Given the description of an element on the screen output the (x, y) to click on. 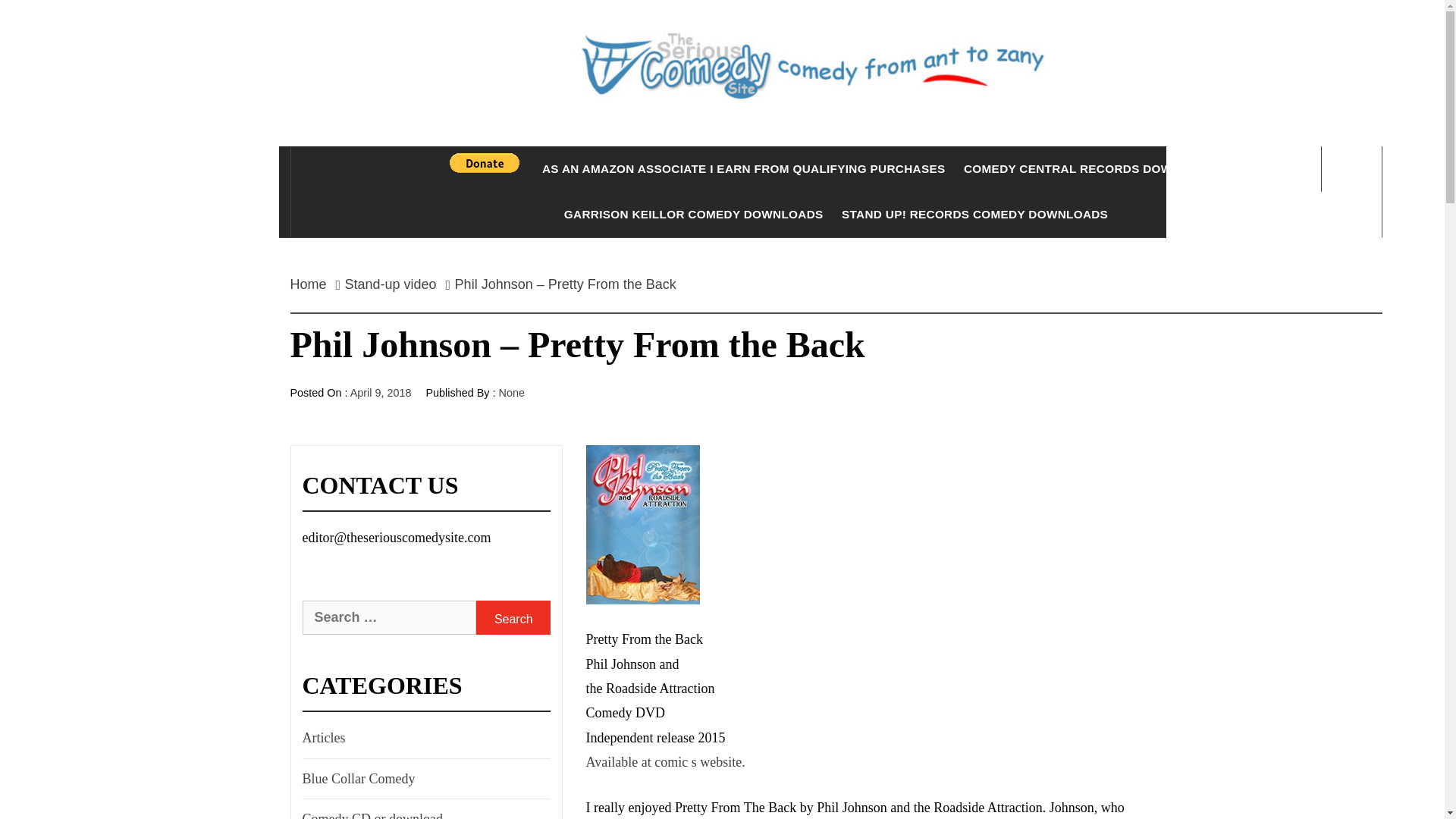
Comedy CD or download (370, 812)
THE SERIOUS COMEDY SITE (836, 164)
Stand-up video (390, 283)
PayPal - The safer, easier way to pay online! (484, 162)
April 9, 2018 (381, 392)
Search (513, 617)
Search (513, 617)
Blue Collar Comedy (356, 778)
COMEDY CENTRAL RECORDS DOWNLOADS (1093, 168)
STAND UP! RECORDS COMEDY DOWNLOADS (974, 214)
AS AN AMAZON ASSOCIATE I EARN FROM QUALIFYING PURCHASES (743, 168)
None (511, 392)
Search (513, 617)
GARRISON KEILLOR COMEDY DOWNLOADS (693, 214)
Articles (322, 737)
